Given the description of an element on the screen output the (x, y) to click on. 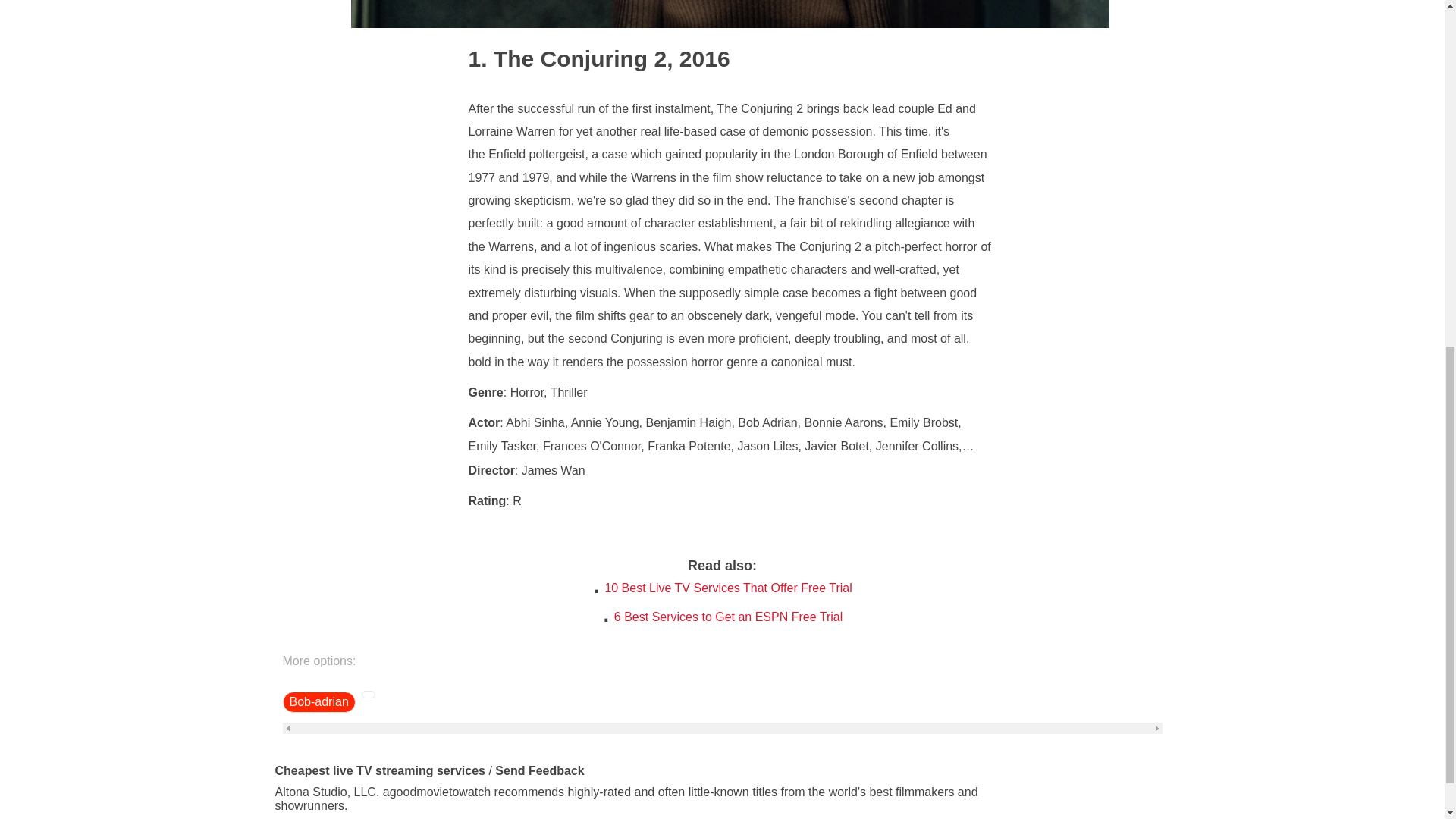
The Conjuring 2 (567, 57)
